Given the description of an element on the screen output the (x, y) to click on. 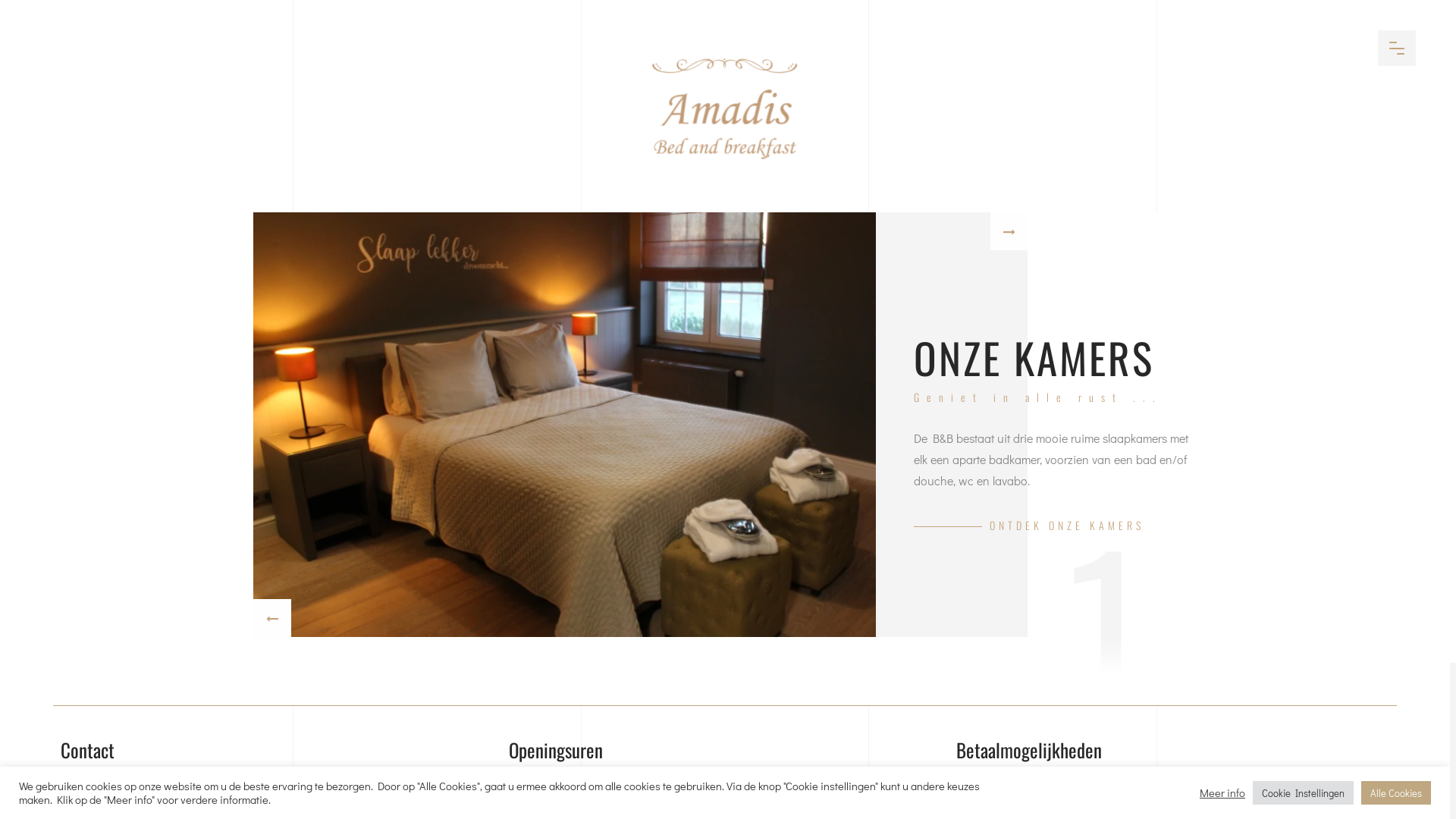
Meer info Element type: text (1222, 792)
Alle Cookies Element type: text (1395, 792)
ONZE KAMERS Element type: text (1033, 357)
Cookie Instellingen Element type: text (1302, 792)
ONTDEK ONZE KAMERS Element type: text (1028, 524)
